Given the description of an element on the screen output the (x, y) to click on. 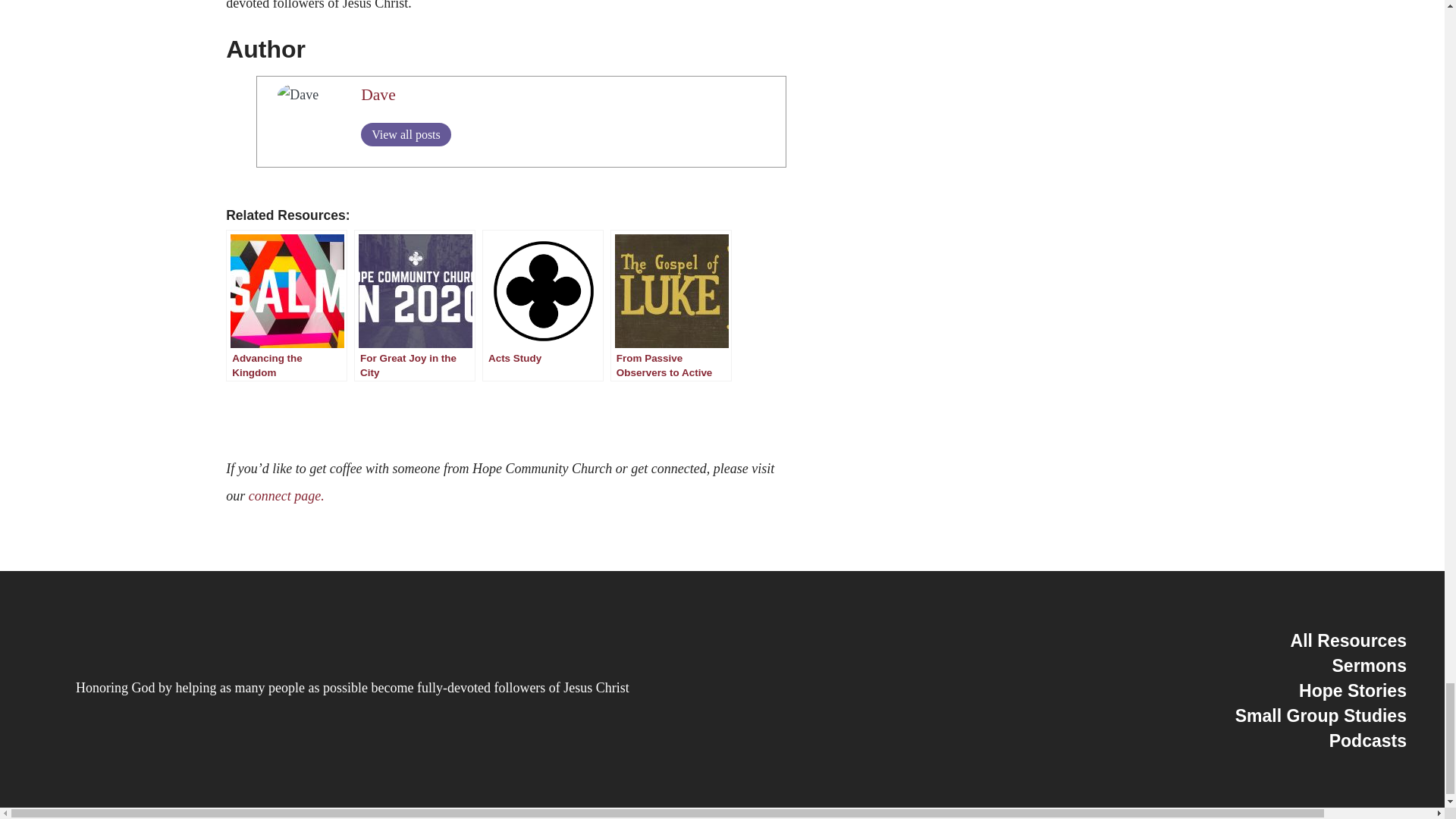
Small Group Studies (1320, 715)
Dave (378, 94)
View all posts (406, 134)
Podcasts (1367, 741)
Sermons (1369, 665)
All Resources (1348, 640)
Hope Stories (1352, 690)
View all posts (406, 134)
Dave (378, 94)
connect page. (286, 495)
